Given the description of an element on the screen output the (x, y) to click on. 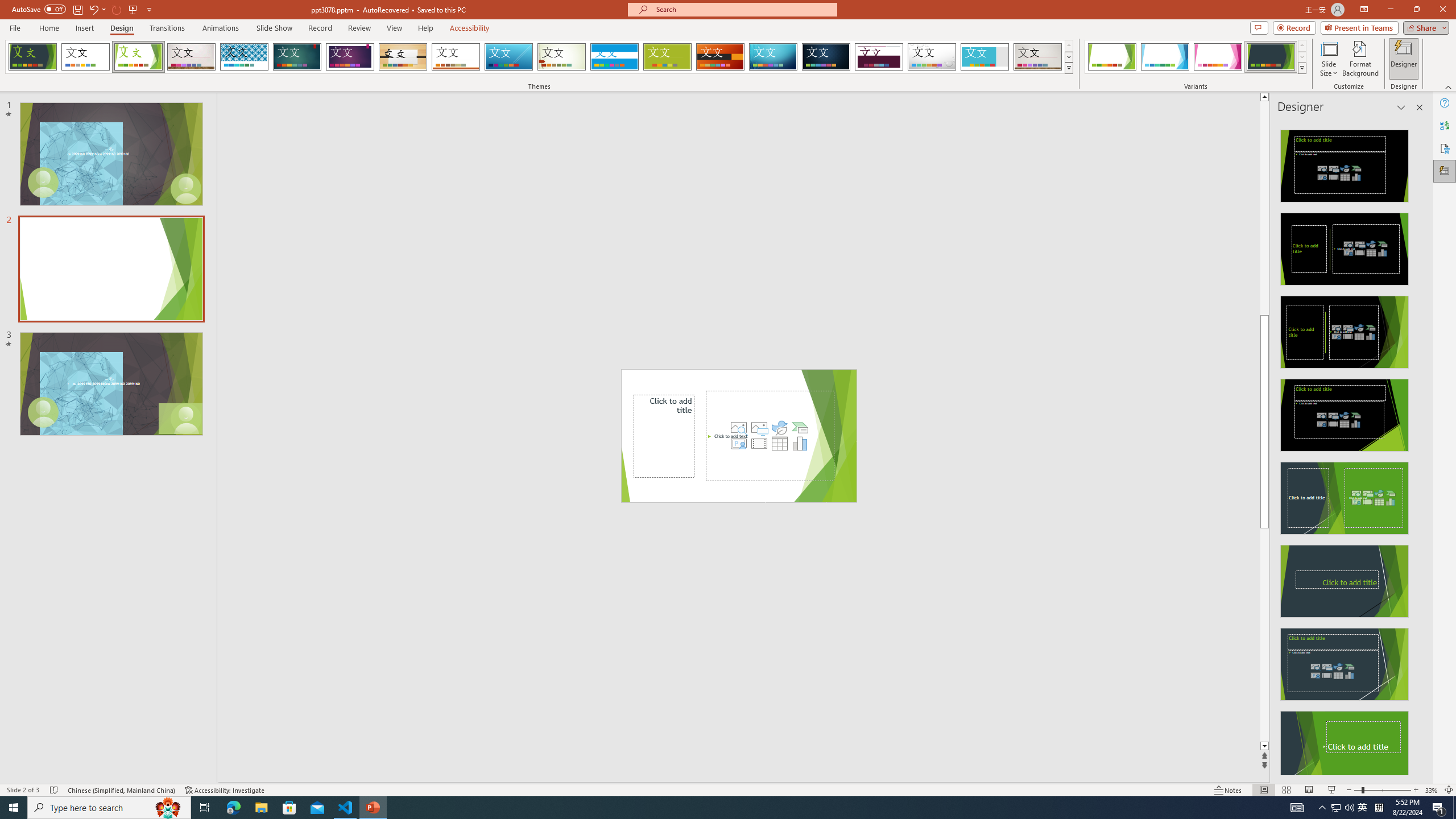
Themes (1068, 67)
Ion Boardroom (350, 56)
Insert Table (779, 443)
Zoom 33% (1431, 790)
Recommended Design: Design Idea (1344, 162)
